Given the description of an element on the screen output the (x, y) to click on. 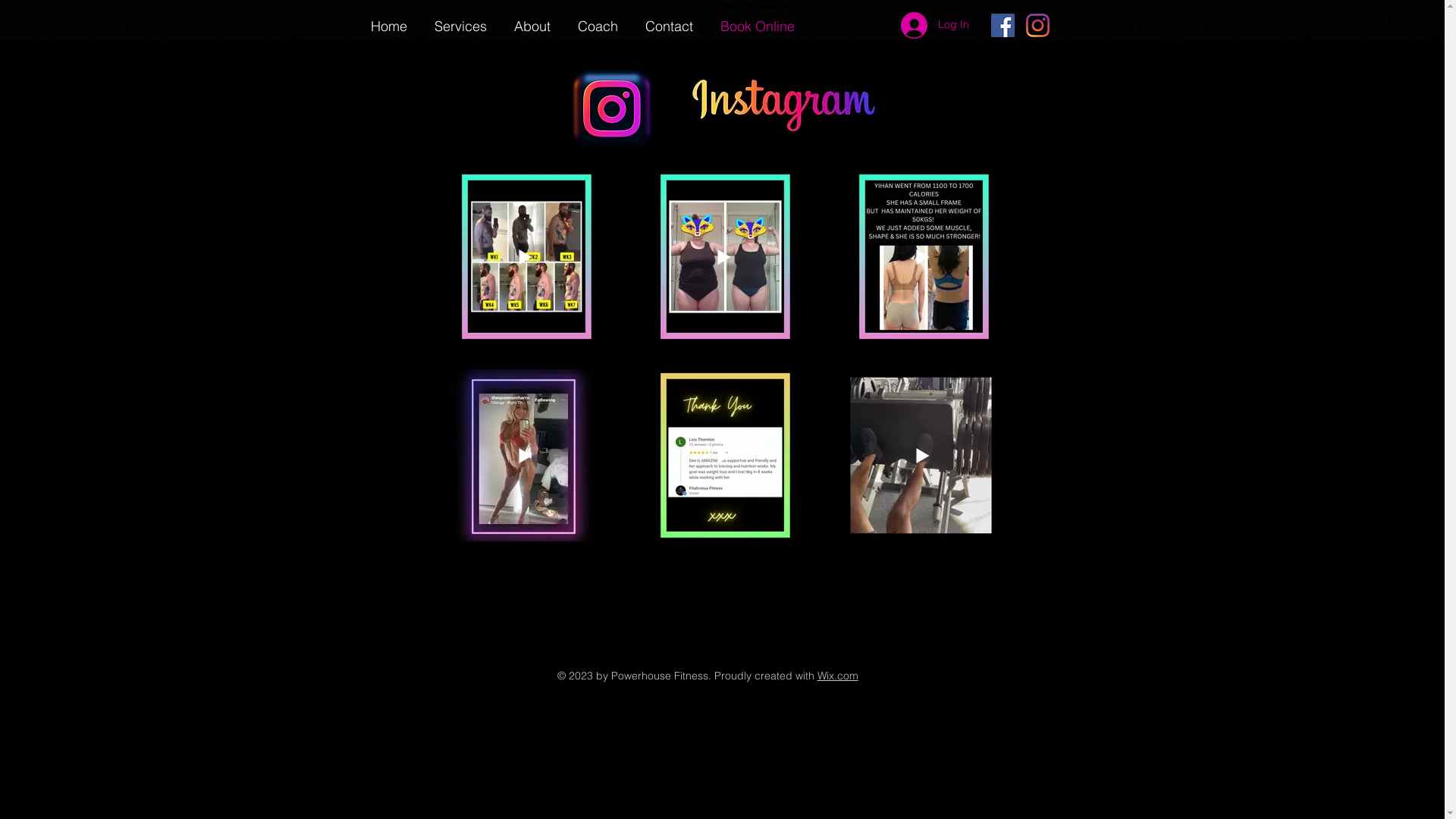
Wix.com Element type: text (837, 675)
Book Online Element type: text (757, 19)
Contact Element type: text (668, 19)
About Element type: text (532, 19)
Coach Element type: text (597, 19)
Services Element type: text (459, 19)
Home Element type: text (388, 19)
Log In Element type: text (934, 25)
